Given the description of an element on the screen output the (x, y) to click on. 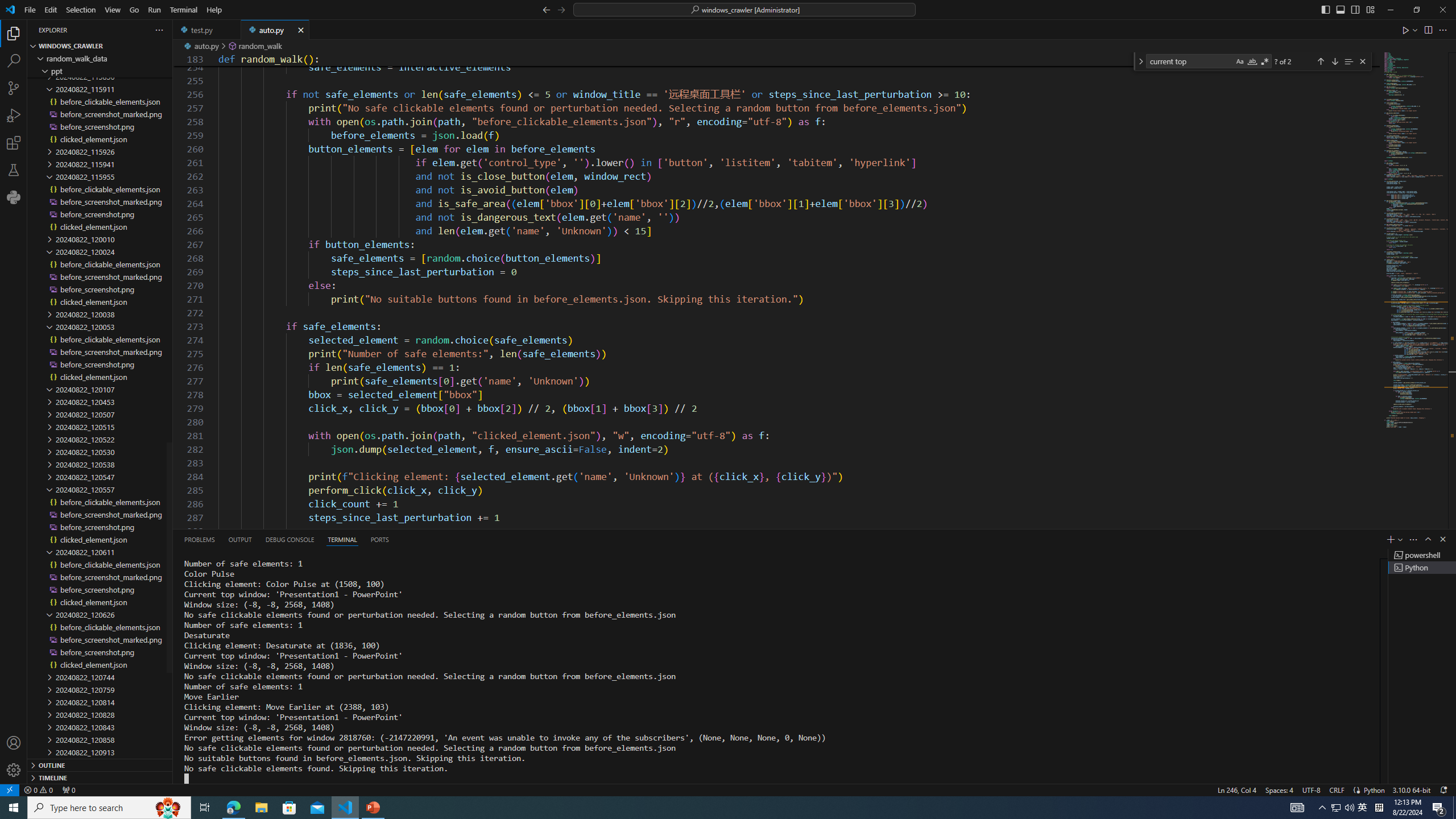
Go Forward (Alt+RightArrow) (560, 9)
Customize Layout... (1369, 9)
Terminal actions (909, 539)
Selection (80, 9)
No Problems (37, 789)
Explorer actions (118, 29)
Extensions (Ctrl+Shift+X) (13, 142)
Testing (13, 169)
Close (Escape) (1362, 60)
Python (1373, 789)
More Actions... (1442, 29)
Toggle Replace (1140, 61)
Problems (Ctrl+Shift+M) (199, 539)
